Given the description of an element on the screen output the (x, y) to click on. 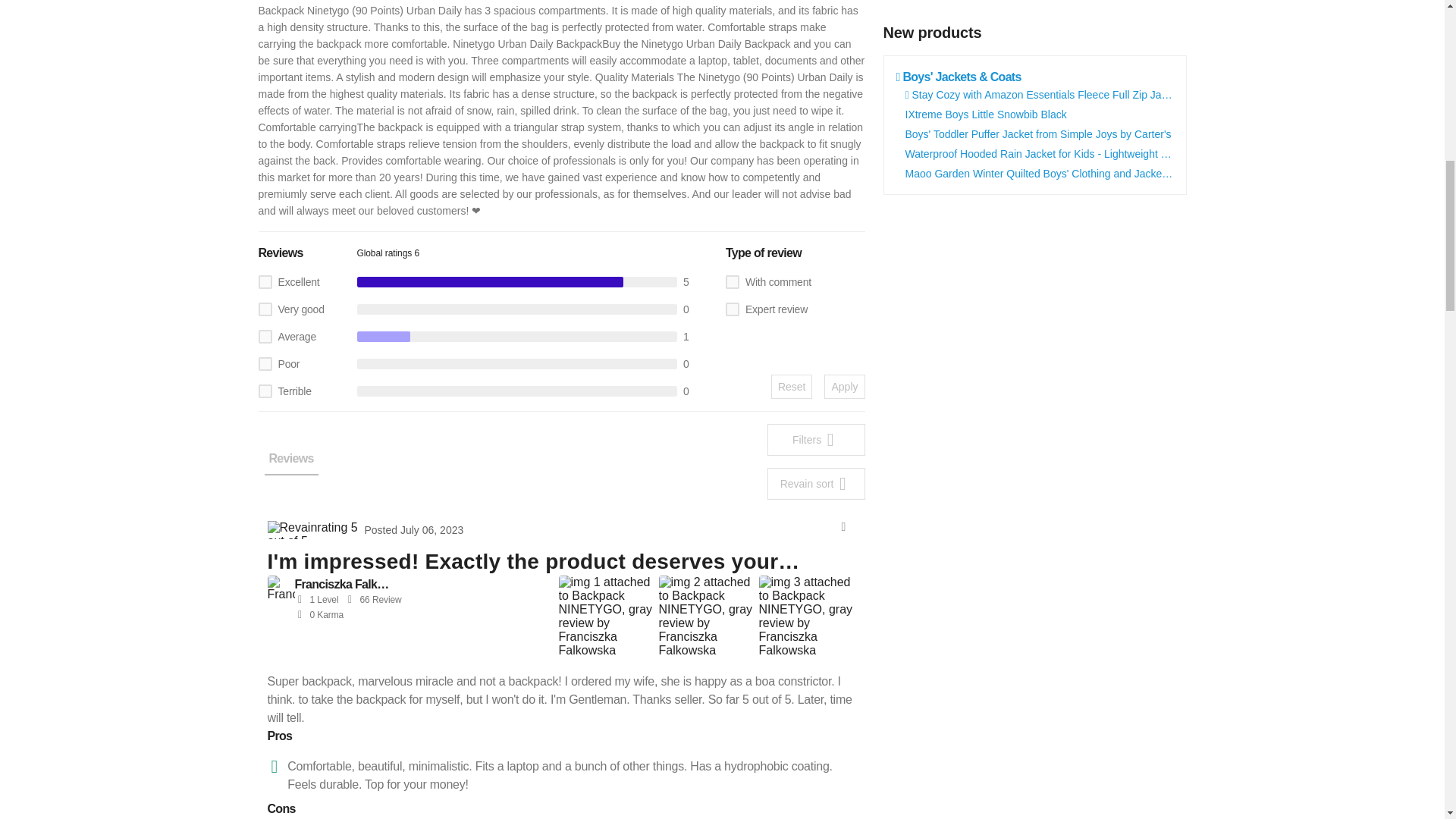
Filters (815, 439)
I'm impressed! Exactly the product deserves your attention. (551, 561)
Reviews (290, 461)
Apply (844, 386)
Revain sort (815, 483)
Reset (791, 386)
